Given the description of an element on the screen output the (x, y) to click on. 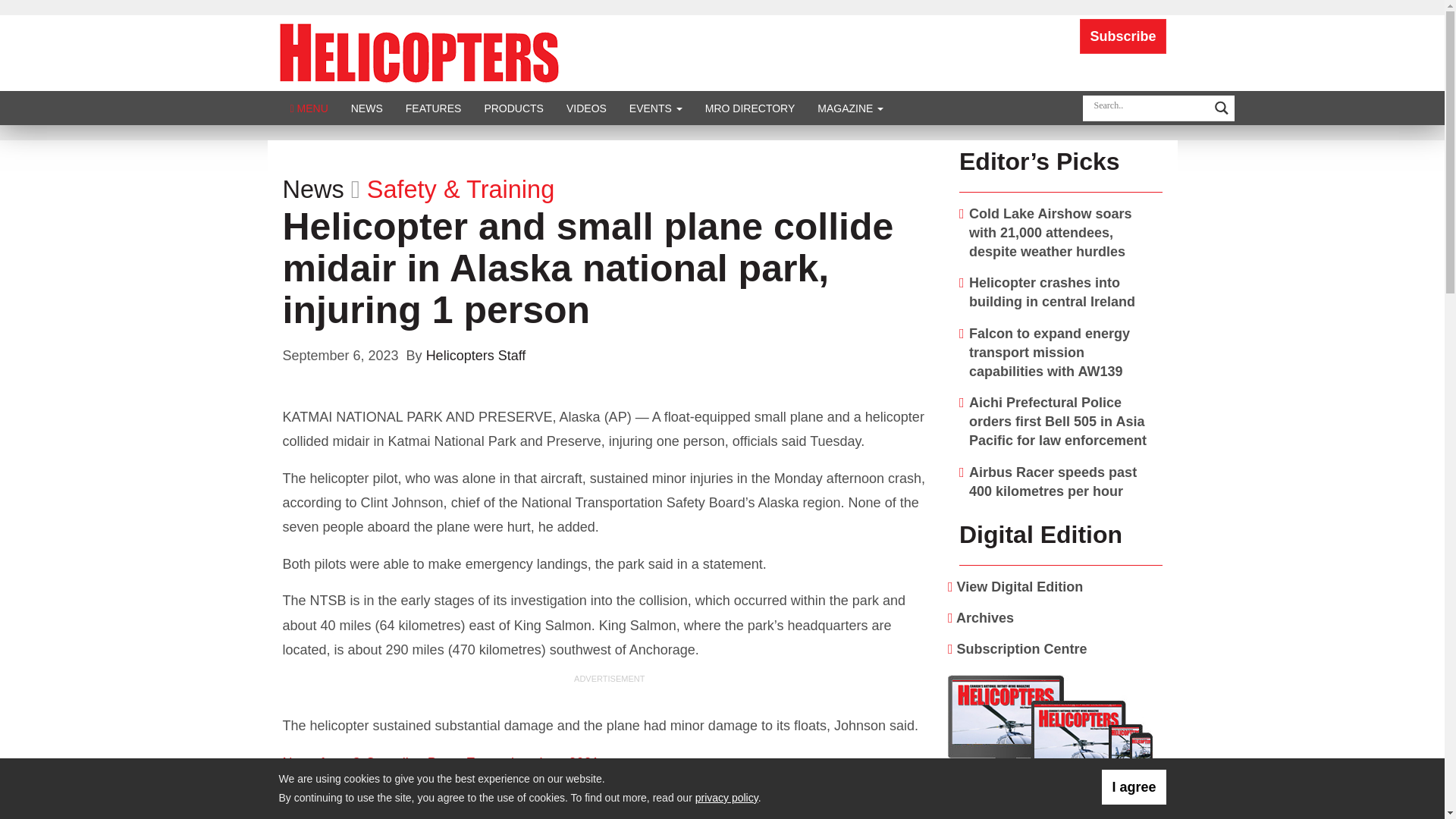
Helicopters Magazine (419, 52)
MAGAZINE (850, 107)
Subscribe (1123, 36)
Click to show site navigation (309, 107)
EVENTS (655, 107)
MRO DIRECTORY (750, 107)
PRODUCTS (512, 107)
FEATURES (433, 107)
MENU (309, 107)
VIDEOS (585, 107)
NEWS (366, 107)
